Given the description of an element on the screen output the (x, y) to click on. 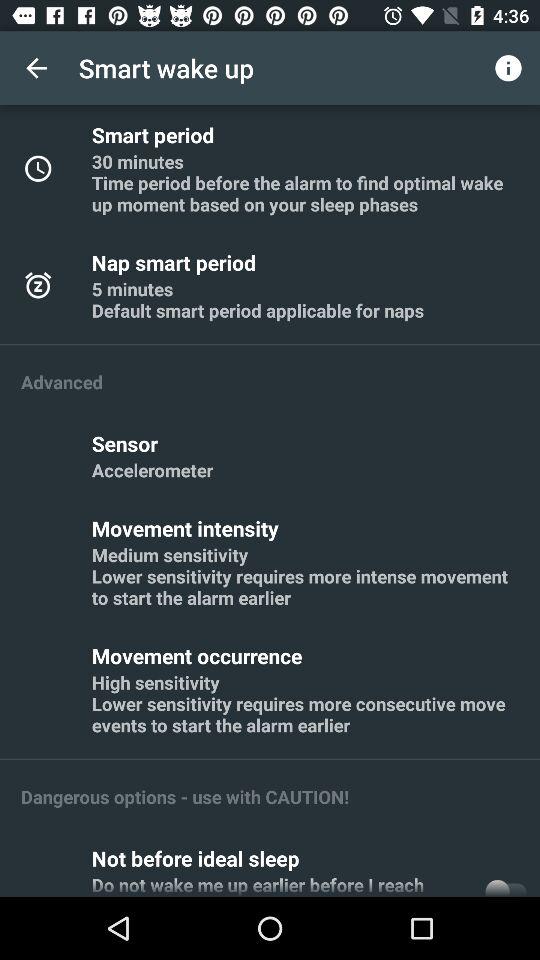
click do not wake item (282, 884)
